Given the description of an element on the screen output the (x, y) to click on. 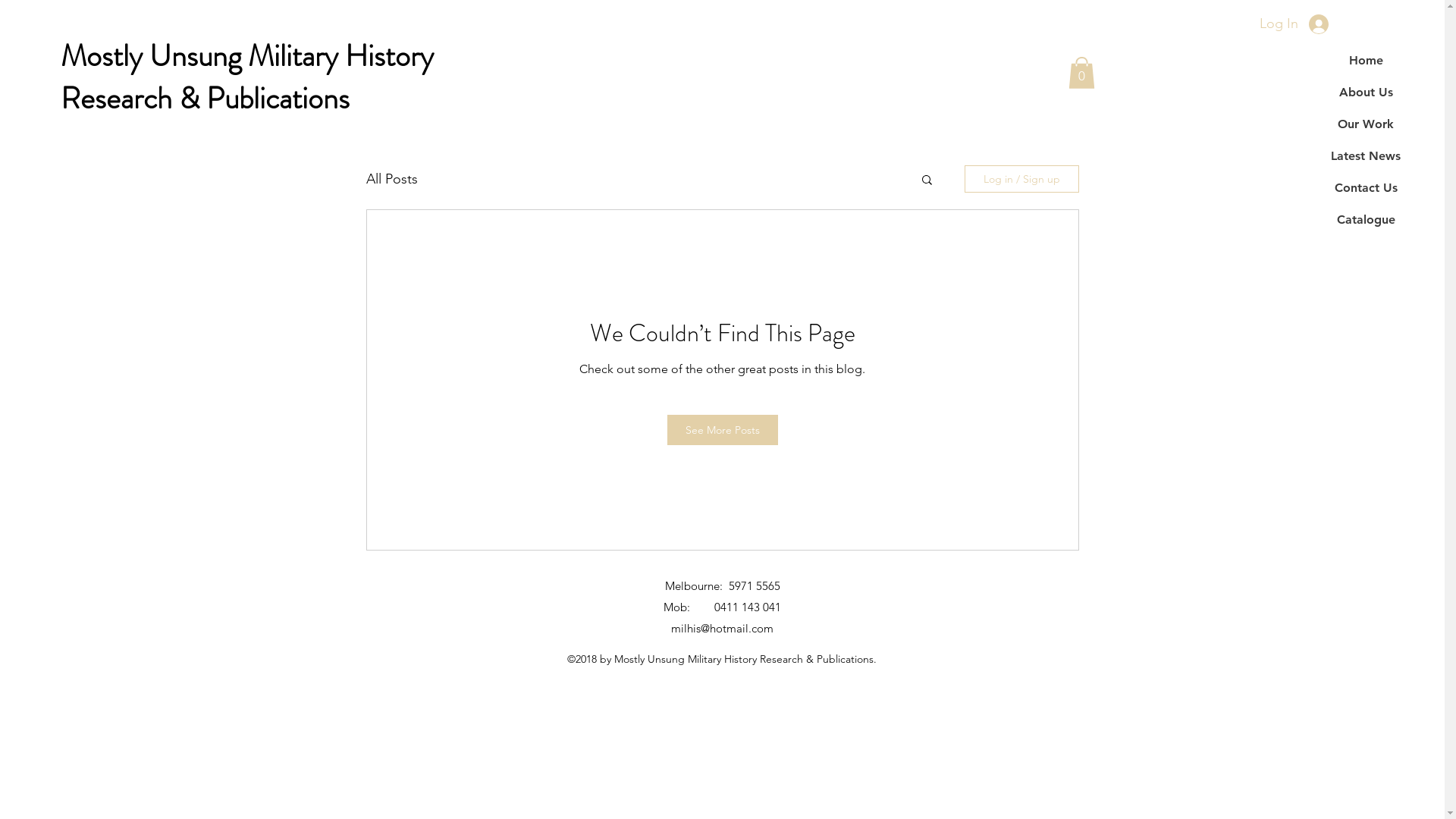
0 Element type: text (1080, 72)
Log in / Sign up Element type: text (1021, 178)
All Posts Element type: text (391, 178)
Research & Publications Element type: text (204, 97)
See More Posts Element type: text (722, 429)
Log In Element type: text (1293, 23)
milhis@hotmail.com Element type: text (722, 628)
Catalogue Element type: text (1365, 219)
Latest News Element type: text (1365, 155)
About Us Element type: text (1365, 92)
Our Work Element type: text (1365, 123)
Mostly Unsung Military History Element type: text (246, 55)
Contact Us Element type: text (1365, 187)
Home Element type: text (1365, 60)
